Given the description of an element on the screen output the (x, y) to click on. 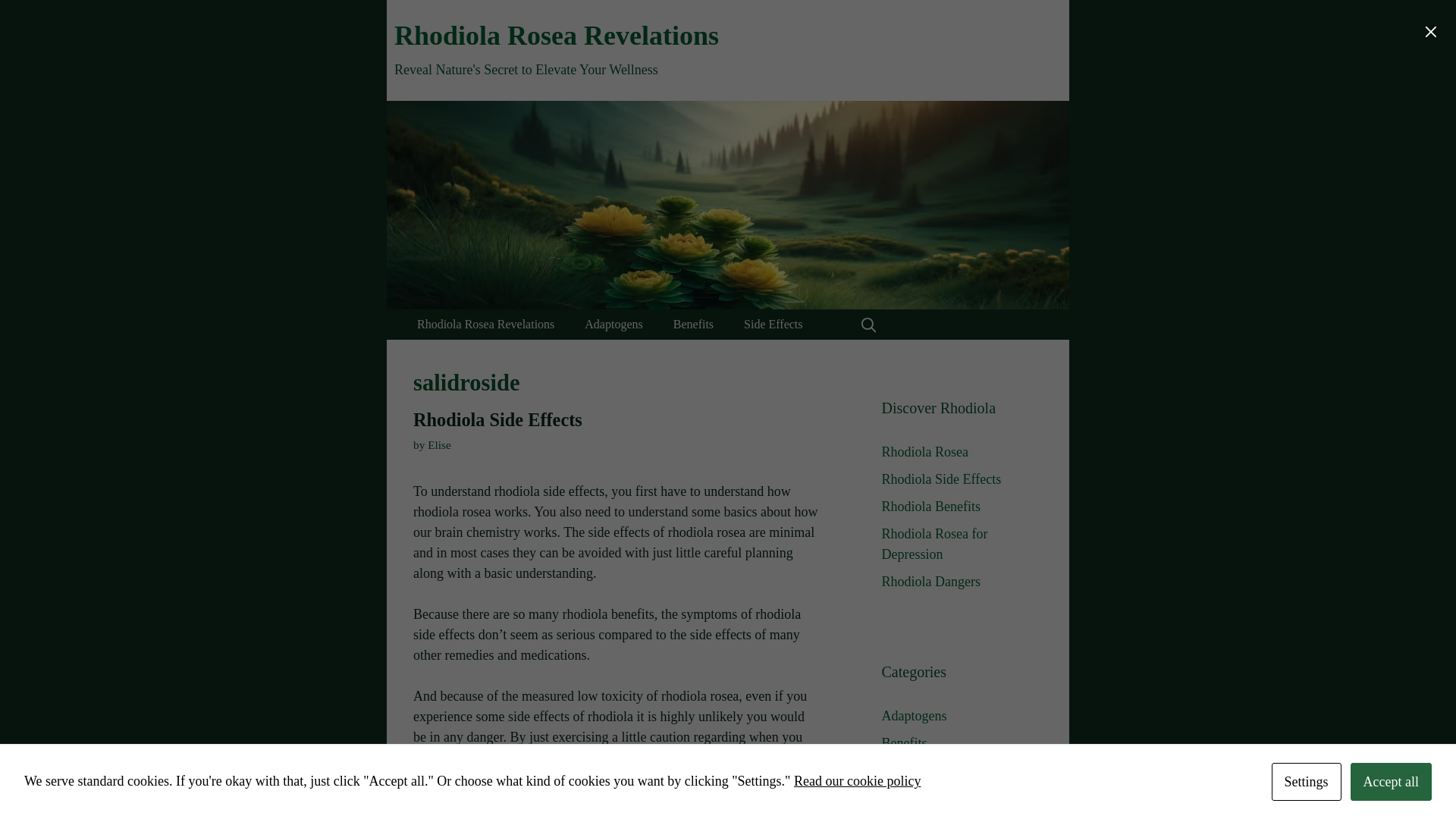
Rhodiola Side Effects (497, 419)
Rhodiola Rosea Revelations (556, 35)
Benefits (903, 743)
Rhodiola Dangers (929, 581)
Adaptogens (613, 324)
Rhodiola Benefits (929, 506)
Benefits (693, 324)
Rhodiola Rosea for Depression (933, 543)
Side Effects (913, 818)
